Given the description of an element on the screen output the (x, y) to click on. 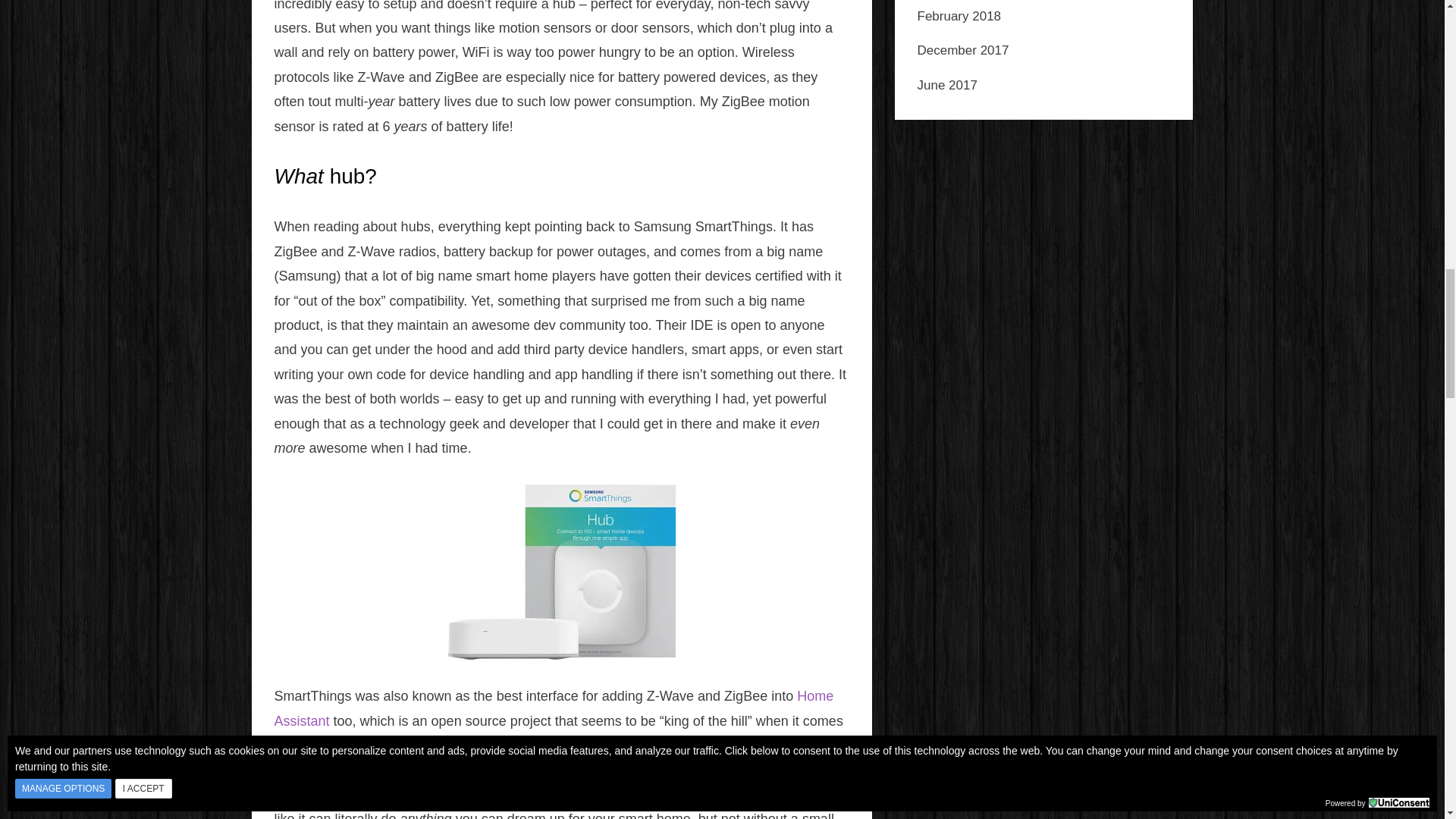
Home Assistant (554, 708)
